Given the description of an element on the screen output the (x, y) to click on. 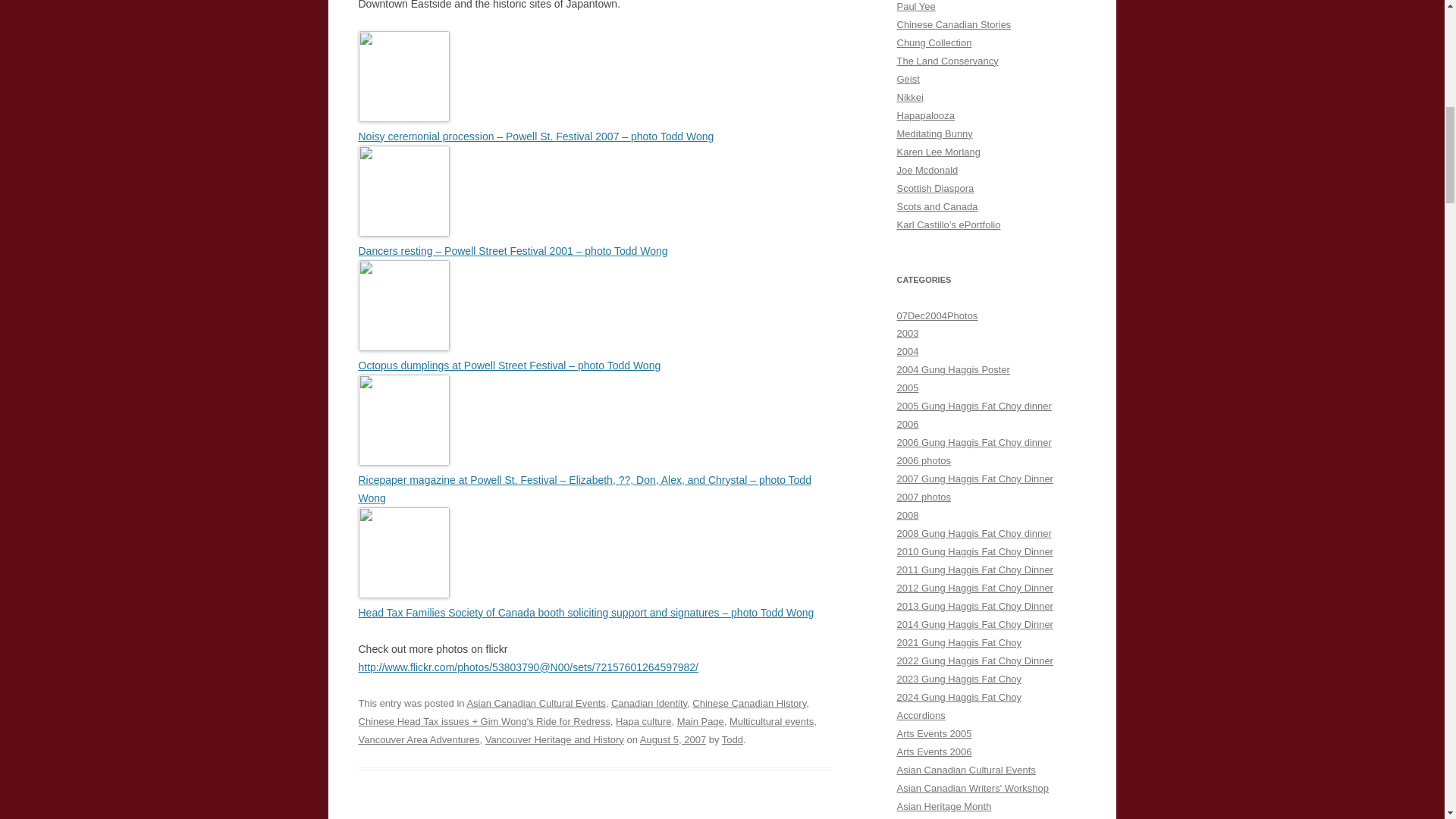
Asian Canadian Cultural Events (535, 703)
Hapa culture (643, 721)
Multicultural events (771, 721)
Chinese Canadian History (749, 703)
View all posts by Todd (732, 739)
Vancouver Heritage and History (554, 739)
Vancouver Area Adventures (418, 739)
Todd (732, 739)
Canadian Identity (649, 703)
Main Page (700, 721)
